Given the description of an element on the screen output the (x, y) to click on. 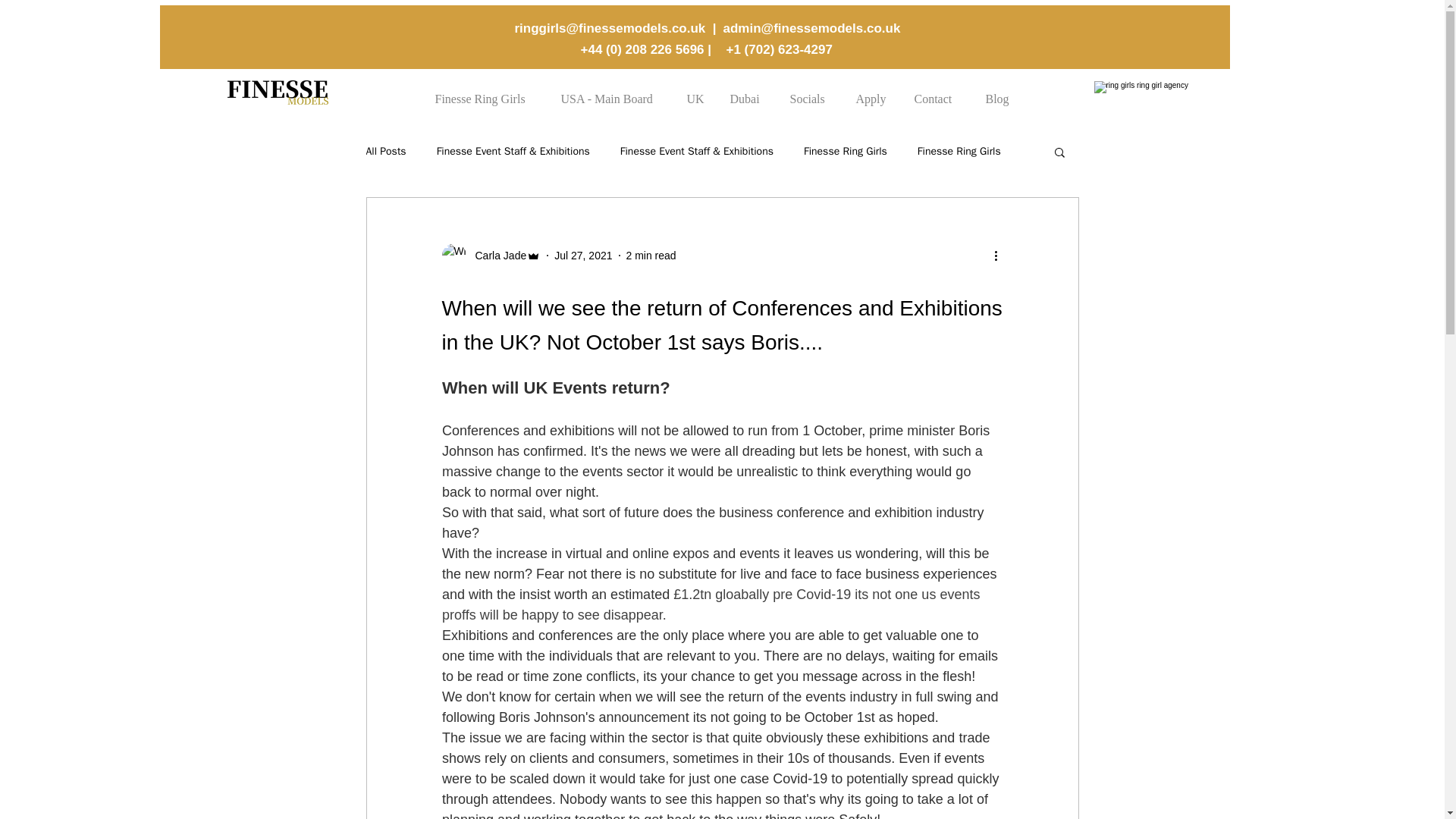
Finesse Ring Girls (959, 151)
Finesse Ring Girls (844, 151)
All Posts (385, 151)
Dubai (746, 91)
USA - Main Board (609, 91)
Carla Jade (495, 254)
2 min read (651, 254)
Finesse Ring Girls (484, 91)
Apply (870, 91)
Jul 27, 2021 (582, 254)
